Given the description of an element on the screen output the (x, y) to click on. 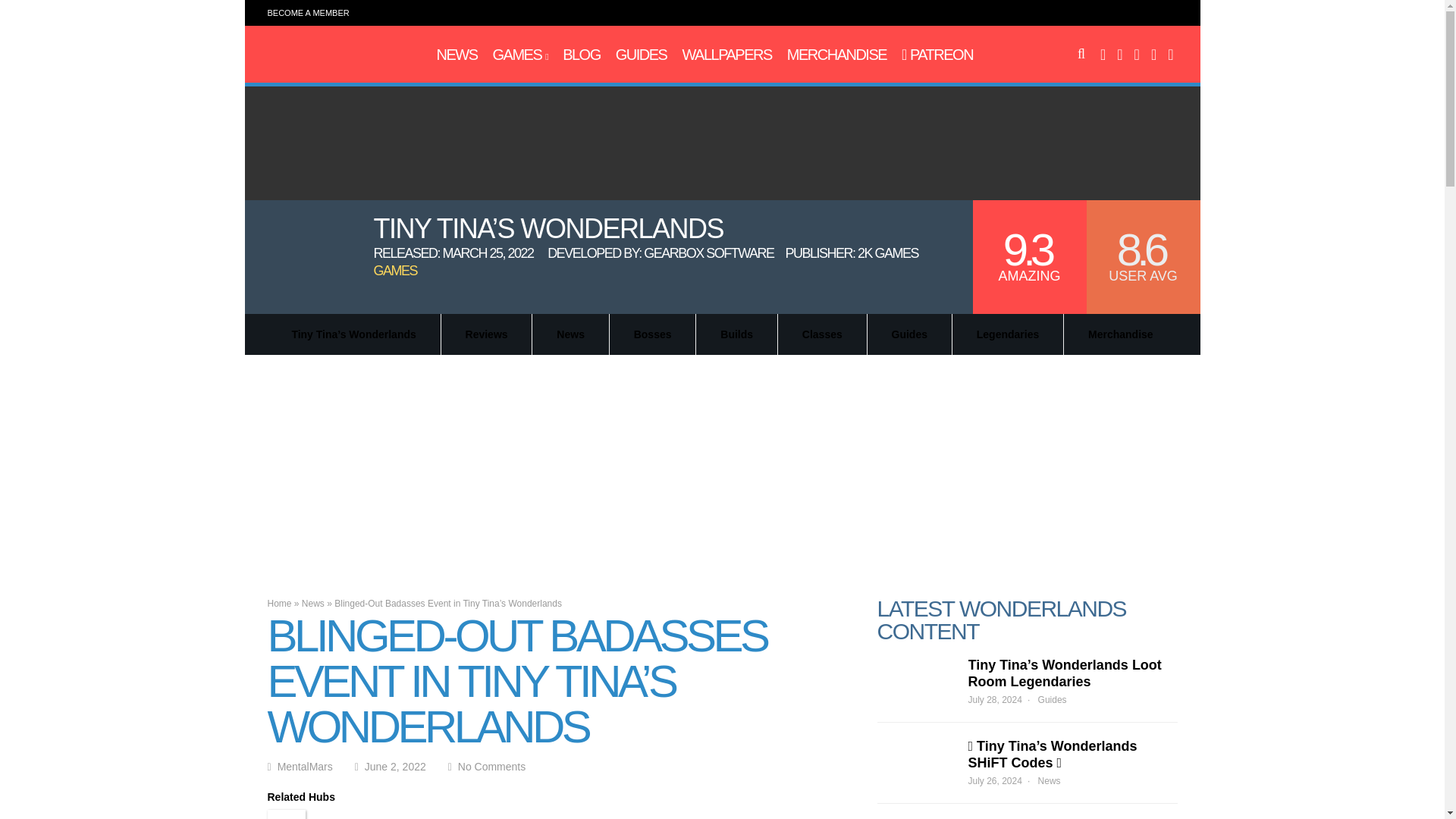
Game Wallpapers (726, 54)
GAMES (520, 54)
GUIDES (640, 54)
BECOME A MEMBER (307, 13)
Blog (580, 54)
PATREON (936, 54)
BLOG (580, 54)
MERCHANDISE (836, 54)
MentalMars (331, 62)
Merchandise (836, 54)
